Given the description of an element on the screen output the (x, y) to click on. 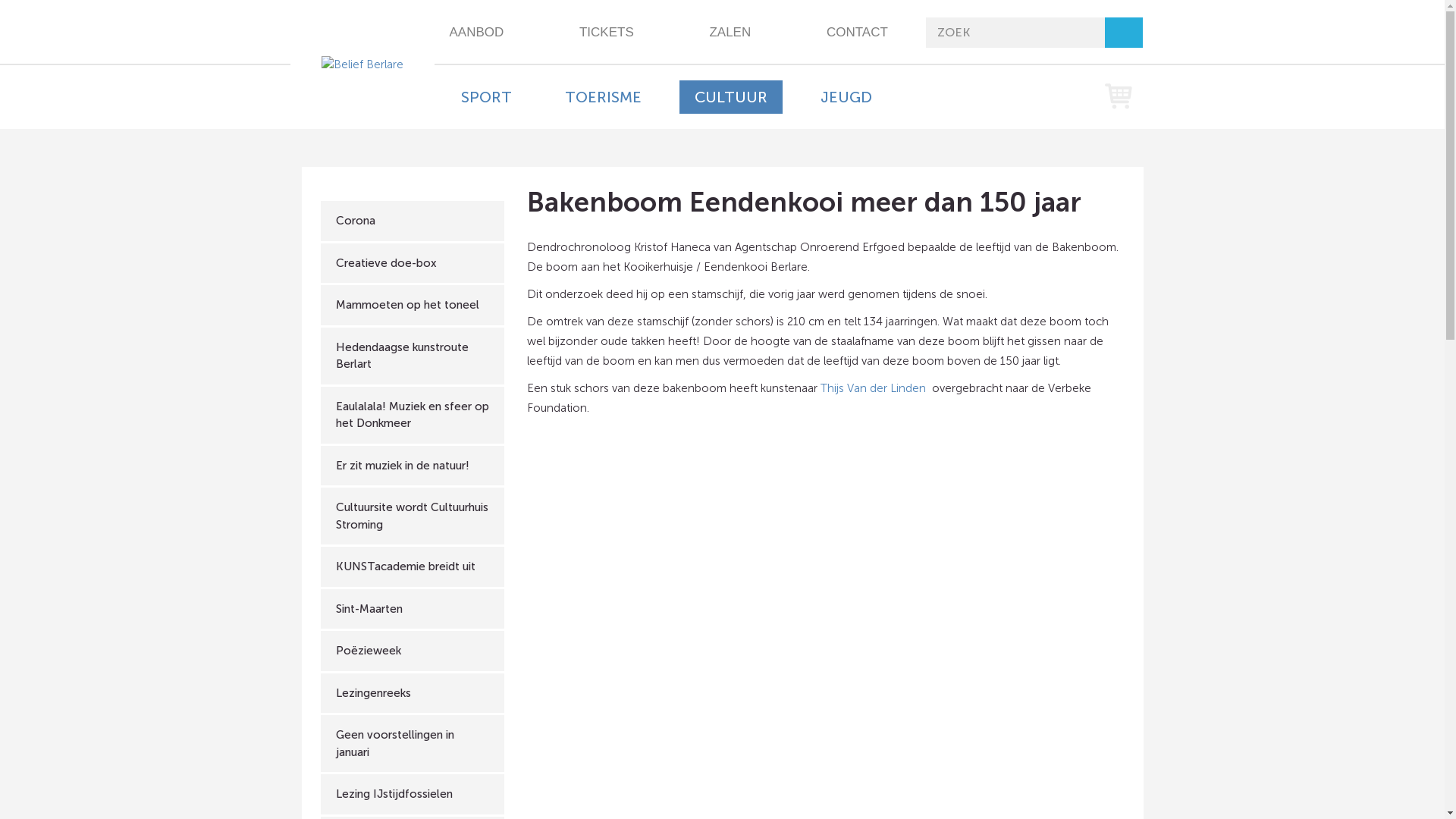
CULTUUR Element type: text (730, 96)
AANBOD Element type: text (476, 32)
CONTACT Element type: text (856, 32)
Sint-Maarten Element type: text (412, 608)
Hedendaagse kunstroute Berlart Element type: text (412, 355)
Belief Berlare Element type: hover (362, 64)
KUNSTacademie breidt uit Element type: text (412, 566)
ZALEN Element type: text (729, 32)
JEUGD Element type: text (846, 96)
Mammoeten op het toneel Element type: text (412, 305)
SPORT Element type: text (486, 96)
Lezing IJstijdfossielen Element type: text (412, 794)
Er zit muziek in de natuur! Element type: text (412, 465)
Thijs Van der Linden  Element type: text (874, 388)
TOERISME Element type: text (602, 96)
Cultuursite wordt Cultuurhuis Stroming Element type: text (412, 515)
Lezingenreeks Element type: text (412, 693)
Eaulalala! Muziek en sfeer op het Donkmeer Element type: text (412, 414)
Creatieve doe-box Element type: text (412, 262)
TICKETS Element type: text (606, 32)
Geen voorstellingen in januari Element type: text (412, 743)
Corona Element type: text (412, 220)
